Given the description of an element on the screen output the (x, y) to click on. 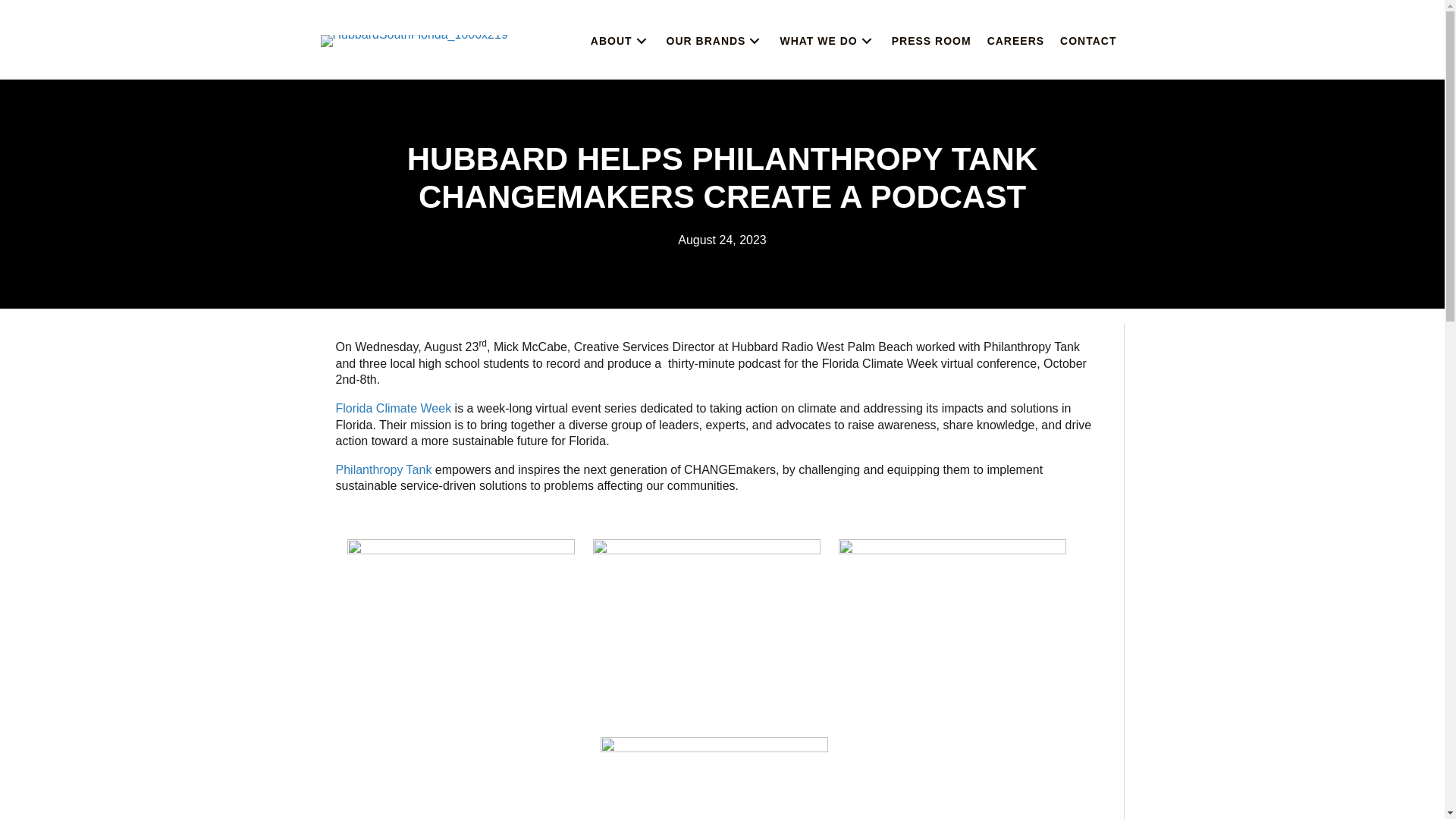
CAREERS (1015, 41)
CONTACT (1088, 41)
PRESS ROOM (930, 41)
WHAT WE DO (826, 41)
OUR BRANDS (715, 41)
ABOUT (620, 41)
